Given the description of an element on the screen output the (x, y) to click on. 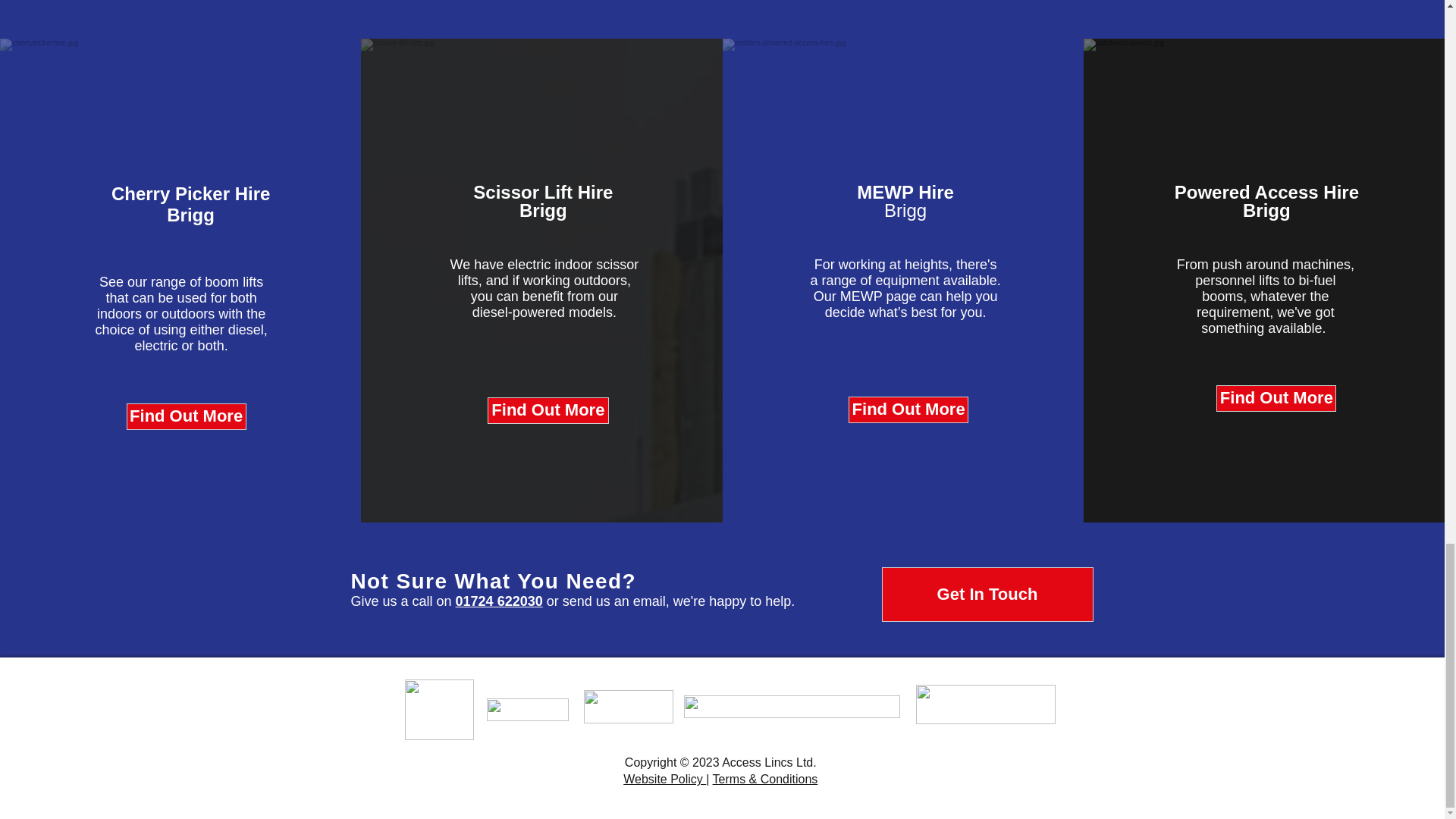
Find Out More (908, 409)
Get In Touch (986, 594)
Skyjack-logo.png (985, 703)
Find Out More (547, 410)
01724 622030 (499, 601)
image-genie.png (527, 709)
JLG-logo.webp (627, 706)
CPA-Logo-Web.png (439, 709)
Niftylift-Logo.png (791, 706)
Find Out More (1275, 397)
Website Policy  (664, 779)
Find Out More (186, 416)
